Given the description of an element on the screen output the (x, y) to click on. 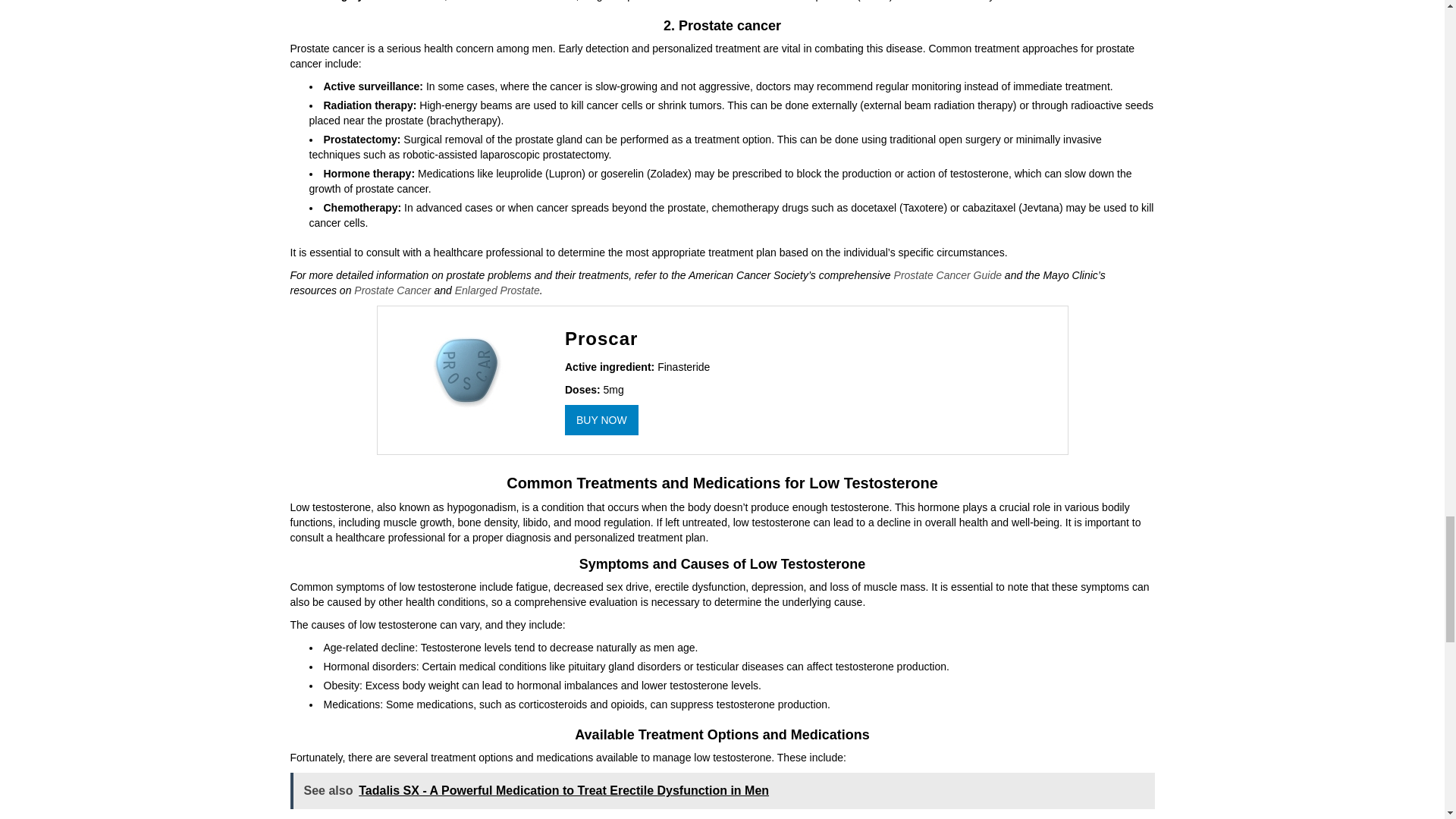
Prostate Cancer Guide (947, 275)
Prostate Cancer (391, 290)
Enlarged Prostate (497, 290)
BUY NOW (601, 419)
Buy Now (601, 419)
